Given the description of an element on the screen output the (x, y) to click on. 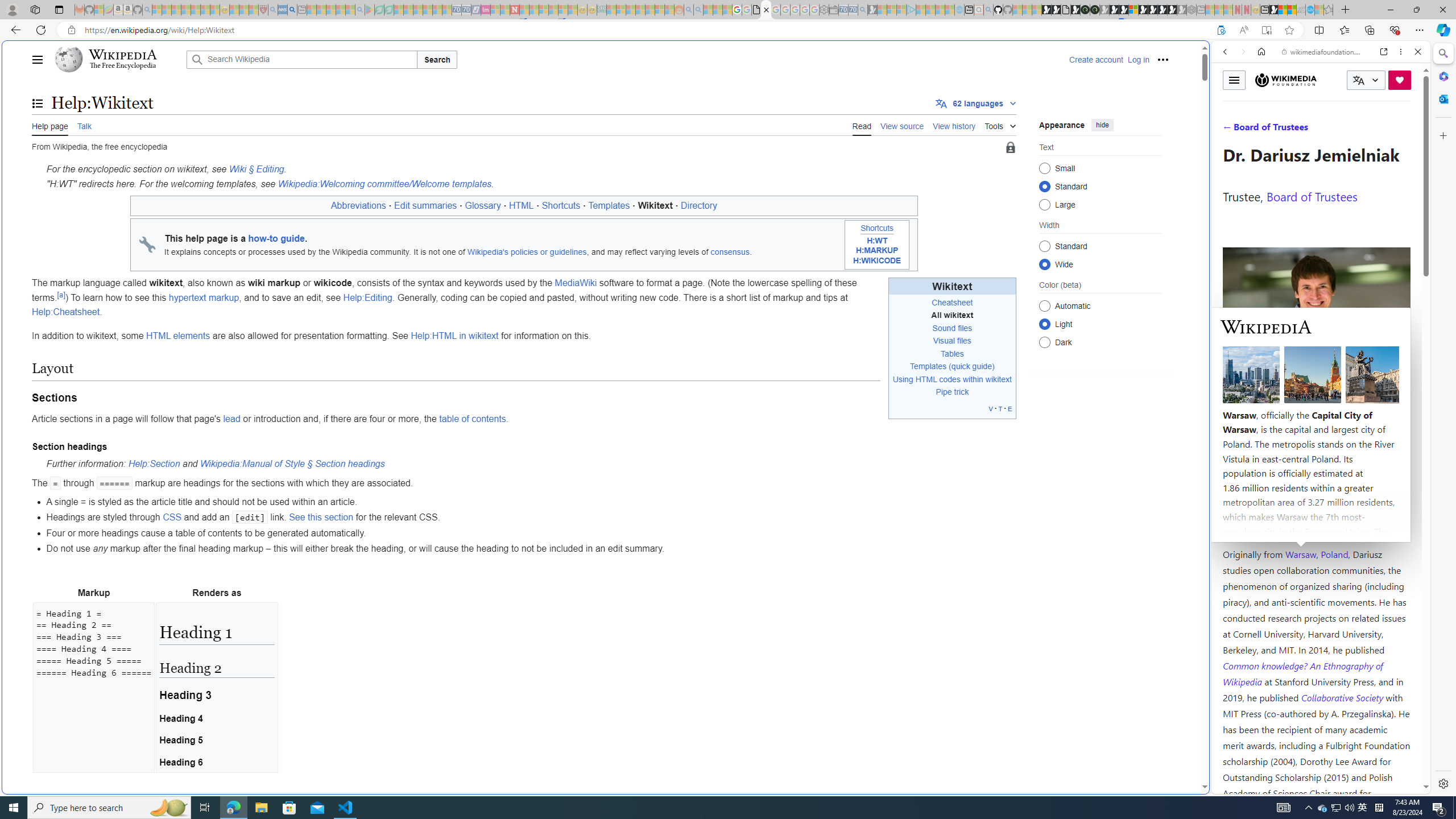
e (1009, 408)
Wikipedia (122, 54)
consensus (729, 252)
H:WIKICODE (877, 260)
World - MSN (727, 389)
hide (1102, 124)
H:WT (877, 240)
wikimediafoundation.org (1323, 51)
Wikitext (952, 285)
Page semi-protected (1010, 147)
Home | Sky Blue Bikes - Sky Blue Bikes (1118, 242)
